Given the description of an element on the screen output the (x, y) to click on. 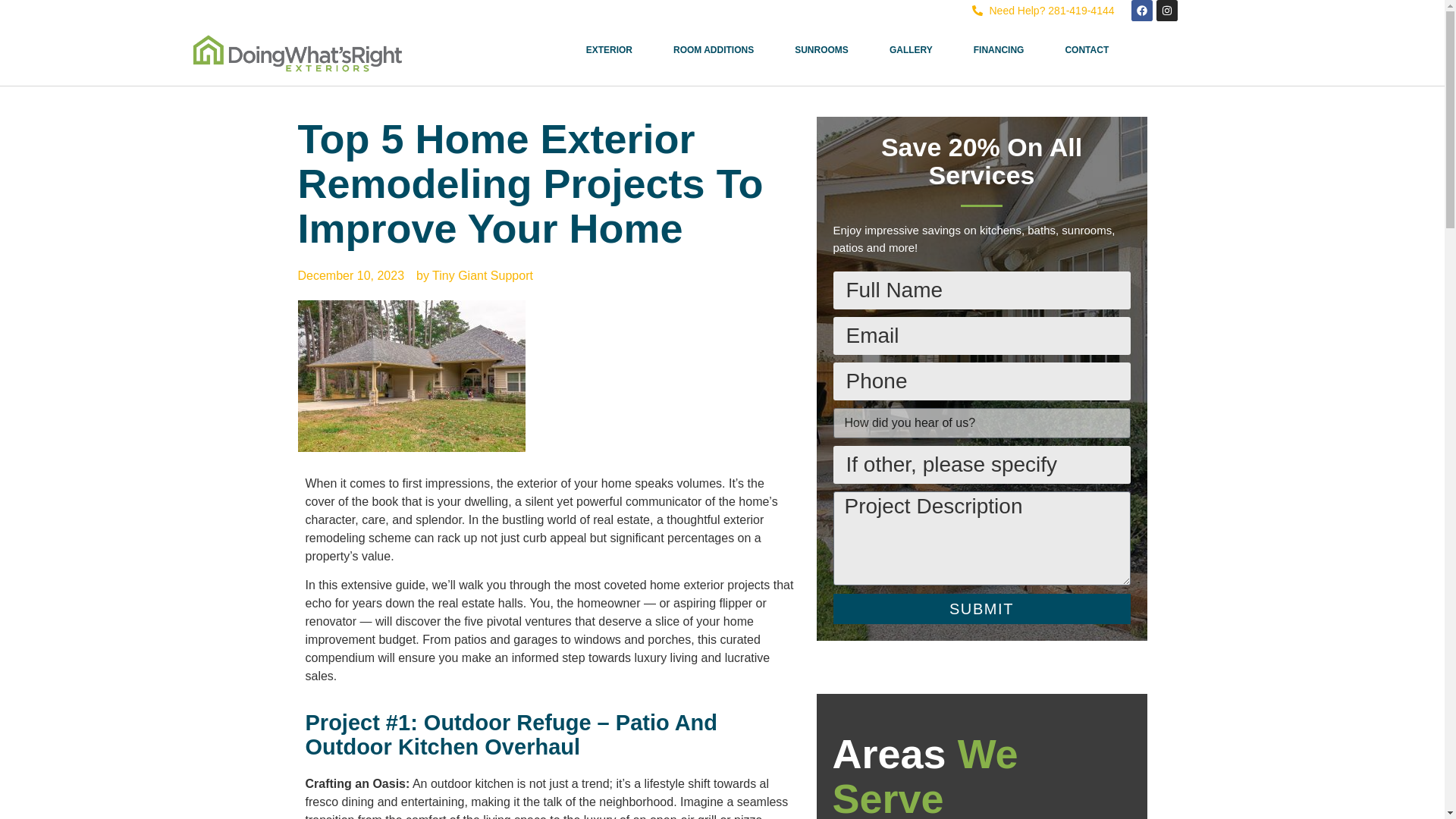
ROOM ADDITIONS (713, 49)
SUNROOMS (821, 49)
EXTERIOR (609, 49)
GALLERY (911, 49)
Need Help? 281-419-4144 (1043, 10)
